Given the description of an element on the screen output the (x, y) to click on. 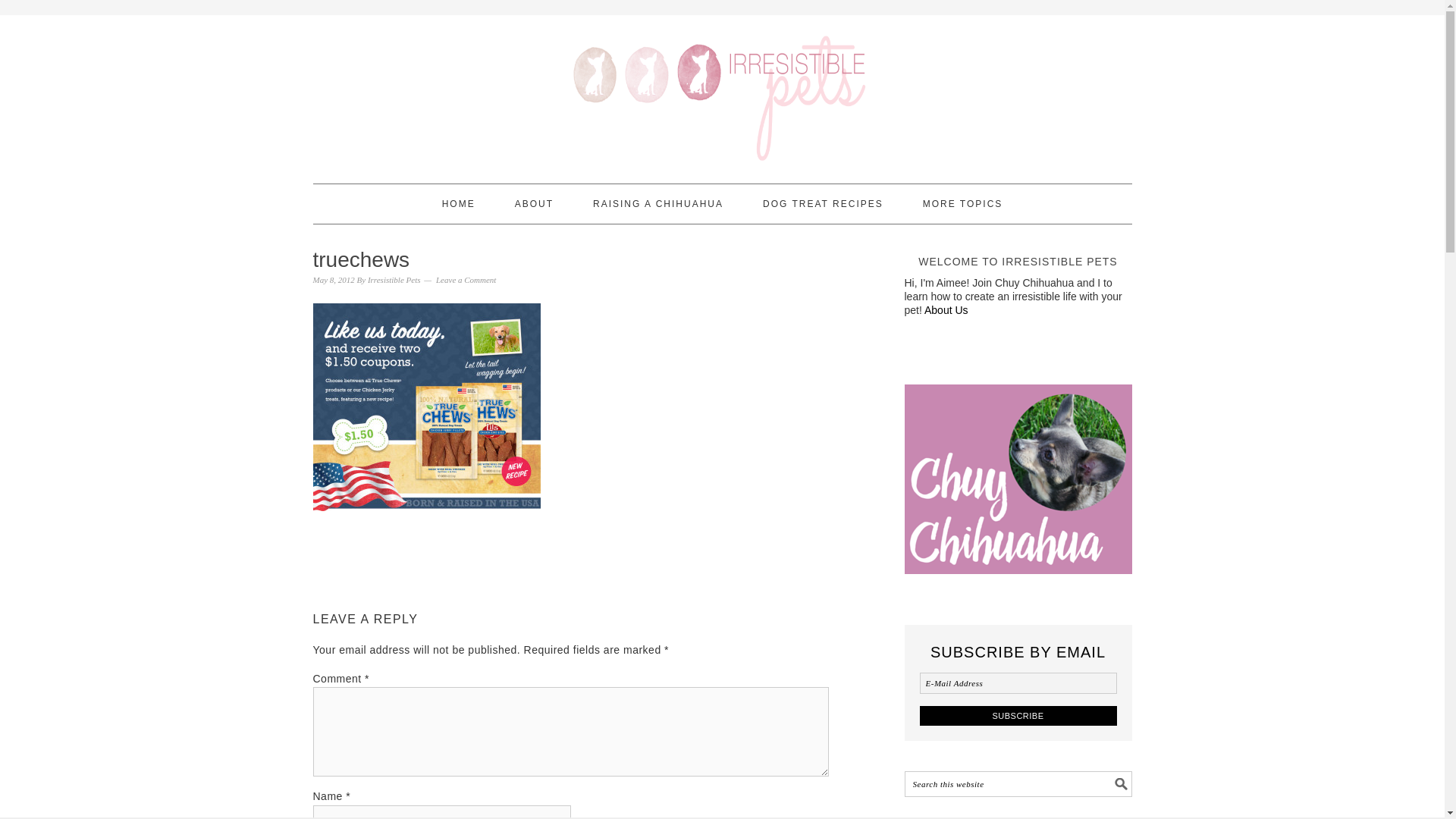
Irresistible Pets (394, 279)
MORE TOPICS (963, 203)
DOG TREAT RECIPES (823, 203)
IRRESISTIBLE PETS (722, 92)
ABOUT (534, 203)
Subscribe (1017, 714)
Leave a Comment (465, 279)
